Given the description of an element on the screen output the (x, y) to click on. 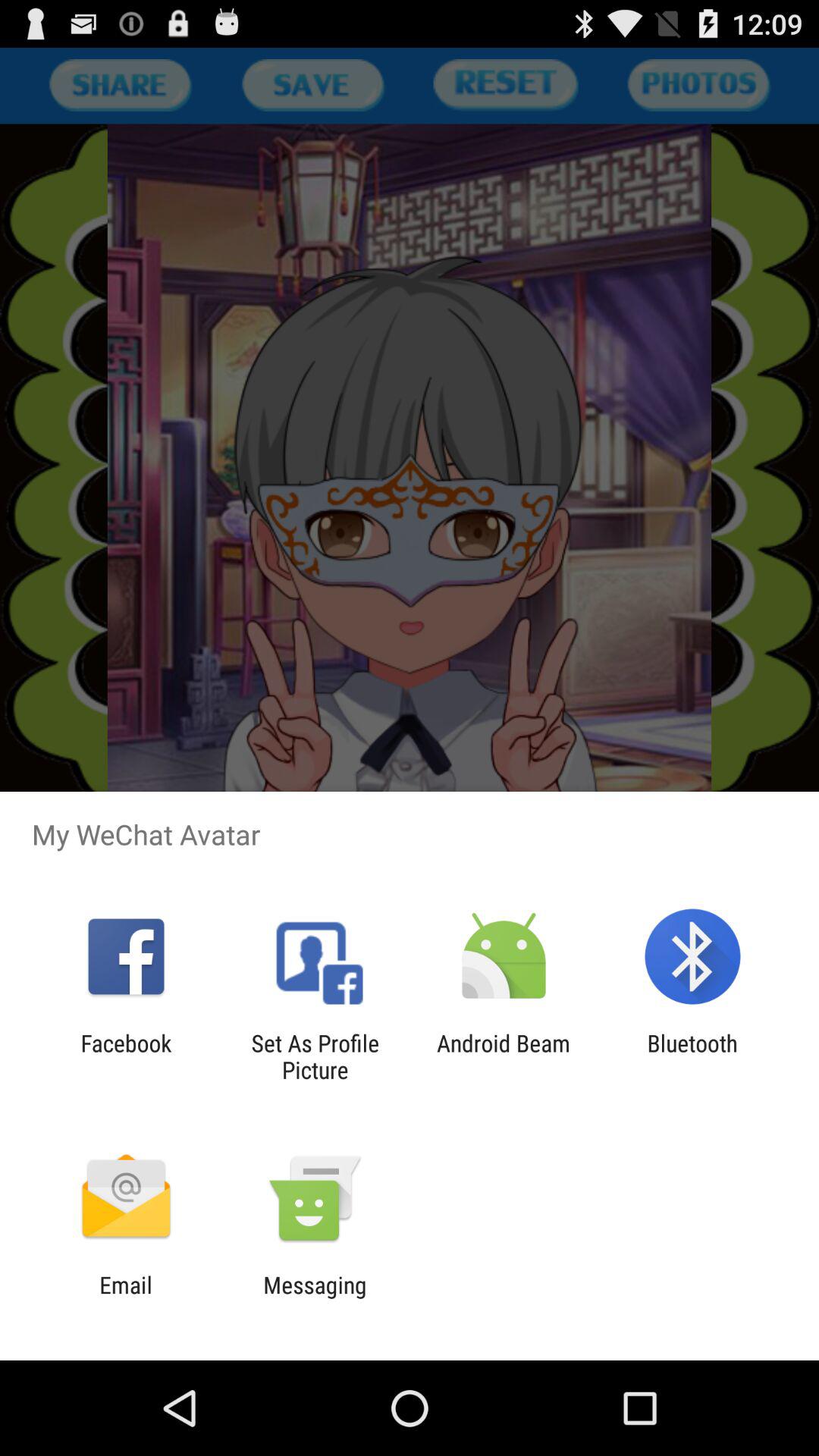
choose the app at the bottom right corner (692, 1056)
